Given the description of an element on the screen output the (x, y) to click on. 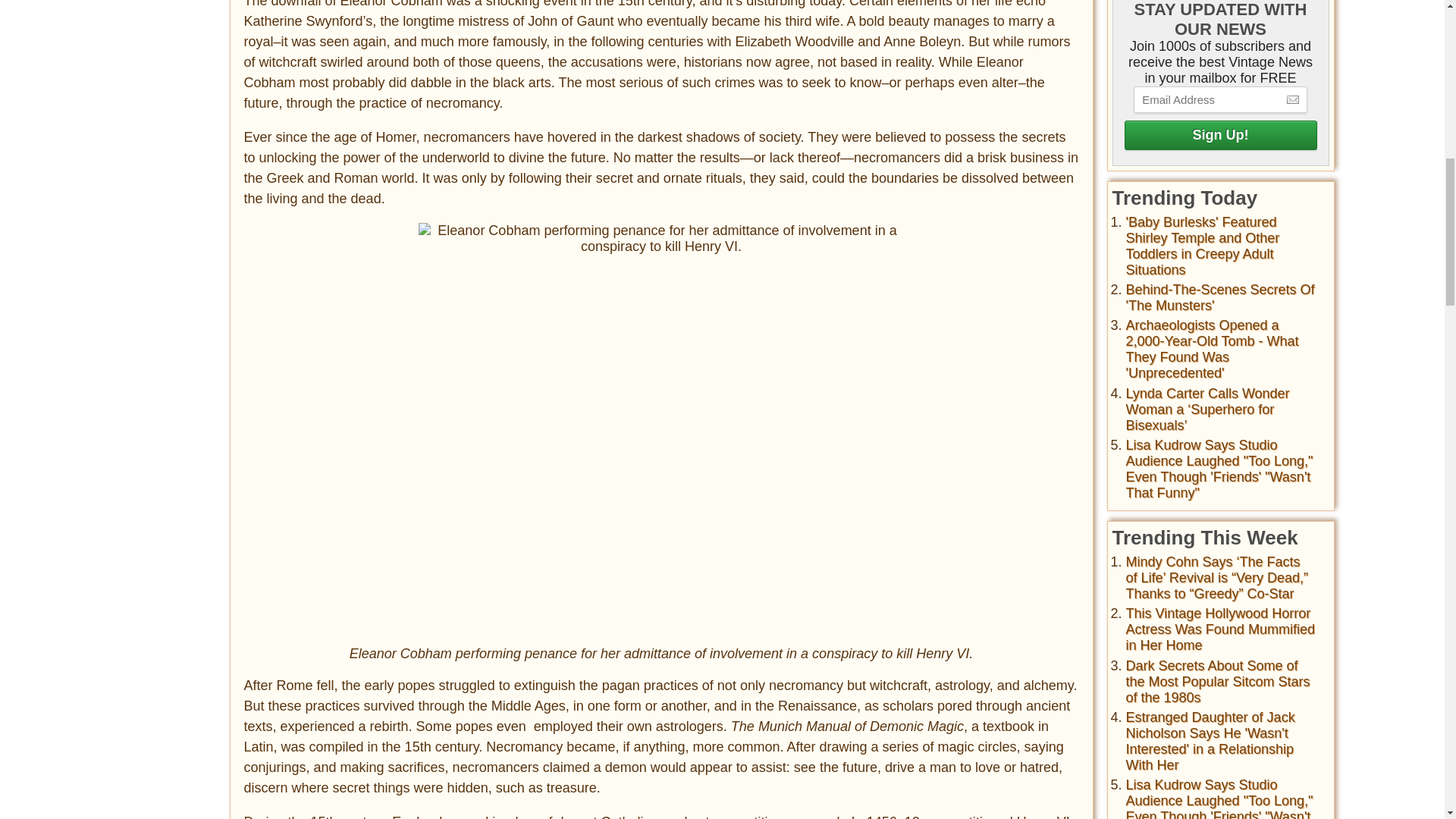
Sign Up! (1220, 134)
